Given the description of an element on the screen output the (x, y) to click on. 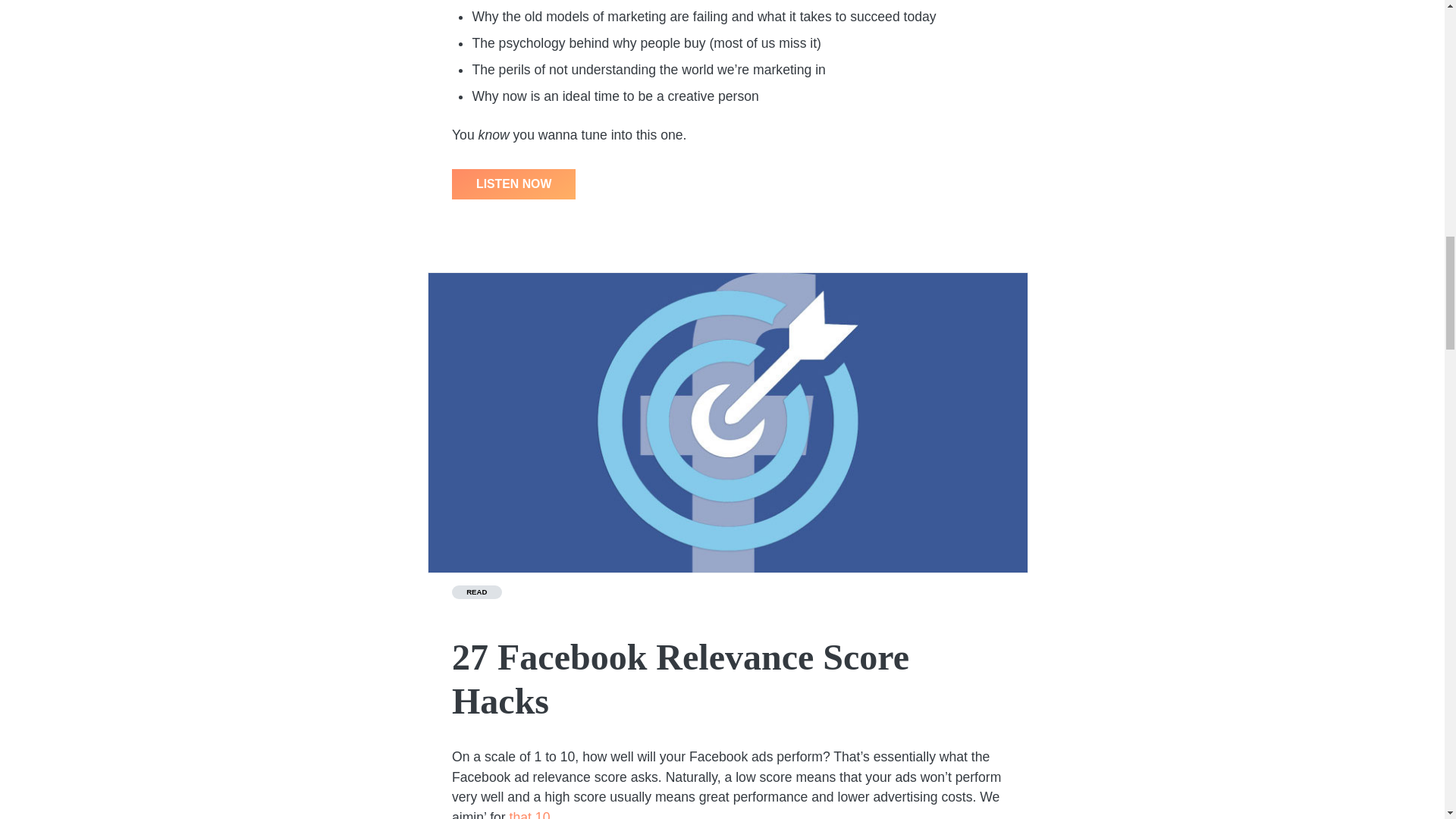
READ (476, 591)
that 10 (529, 814)
LISTEN NOW (513, 183)
